Given the description of an element on the screen output the (x, y) to click on. 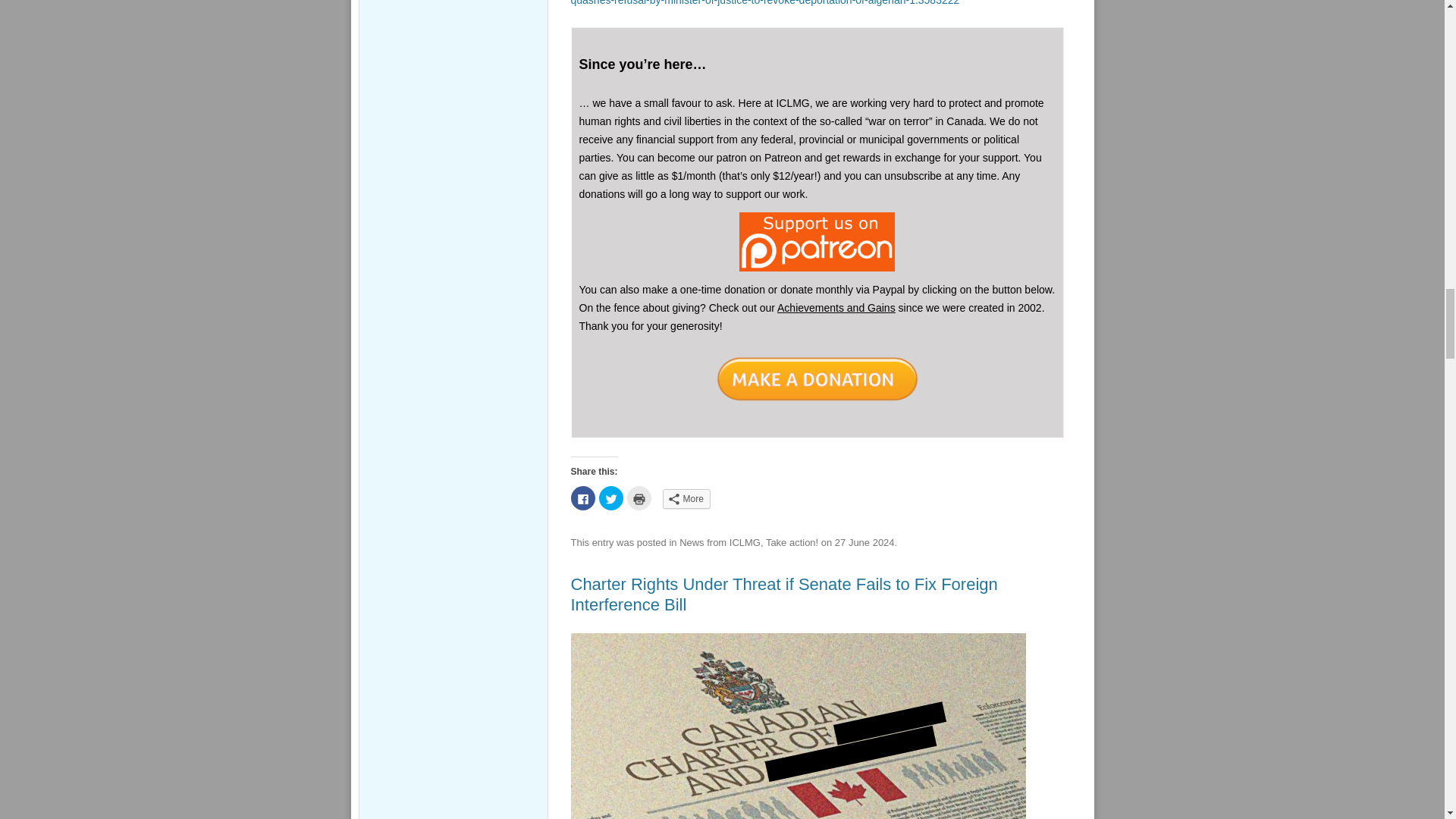
Click to share on Facebook (582, 498)
Click to print (638, 498)
Click to share on Twitter (610, 498)
4:33 pm (864, 542)
